Given the description of an element on the screen output the (x, y) to click on. 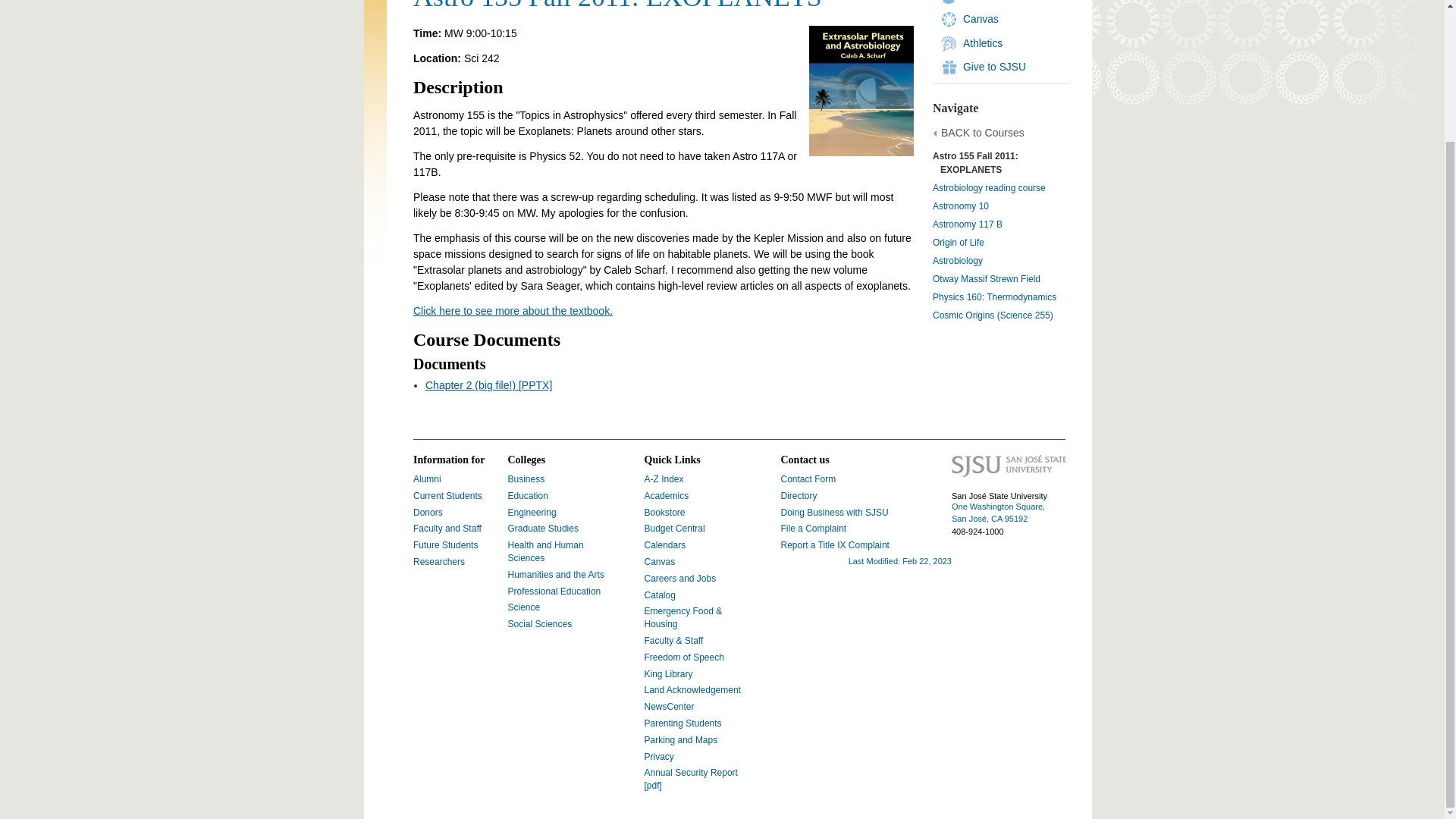
Donors (427, 511)
Future Students (445, 544)
Origin of Life (958, 242)
BACK to Courses (982, 133)
Athletics (982, 42)
Otway Massif Strewn Field (987, 278)
Alumni (427, 479)
Astro 155 Fall 2011: EXOPLANETS (975, 162)
Give to SJSU (994, 66)
Astronomy 117 B (968, 224)
